Given the description of an element on the screen output the (x, y) to click on. 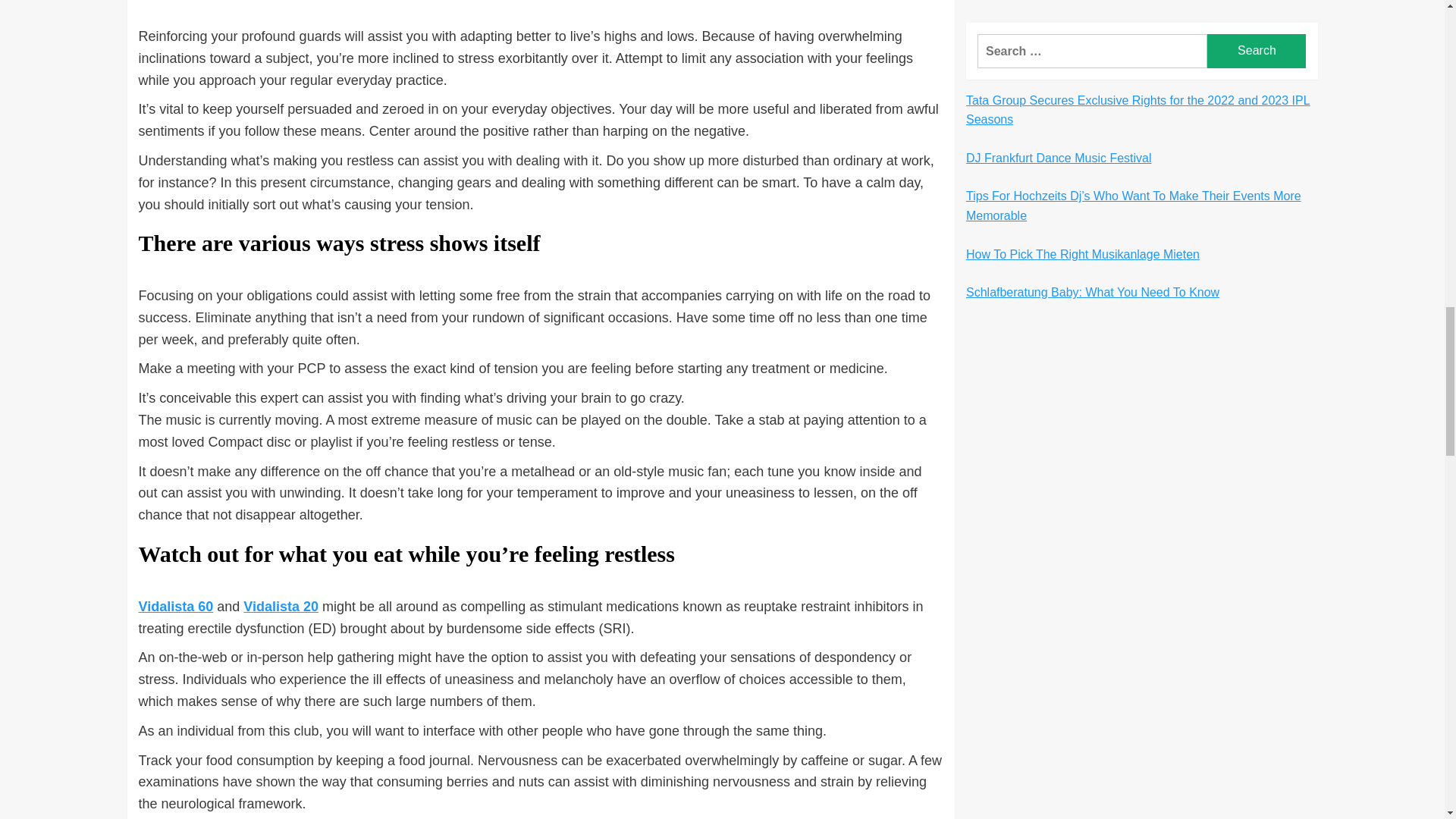
Vidalista 60 (175, 606)
Vidalista 20 (280, 606)
